Given the description of an element on the screen output the (x, y) to click on. 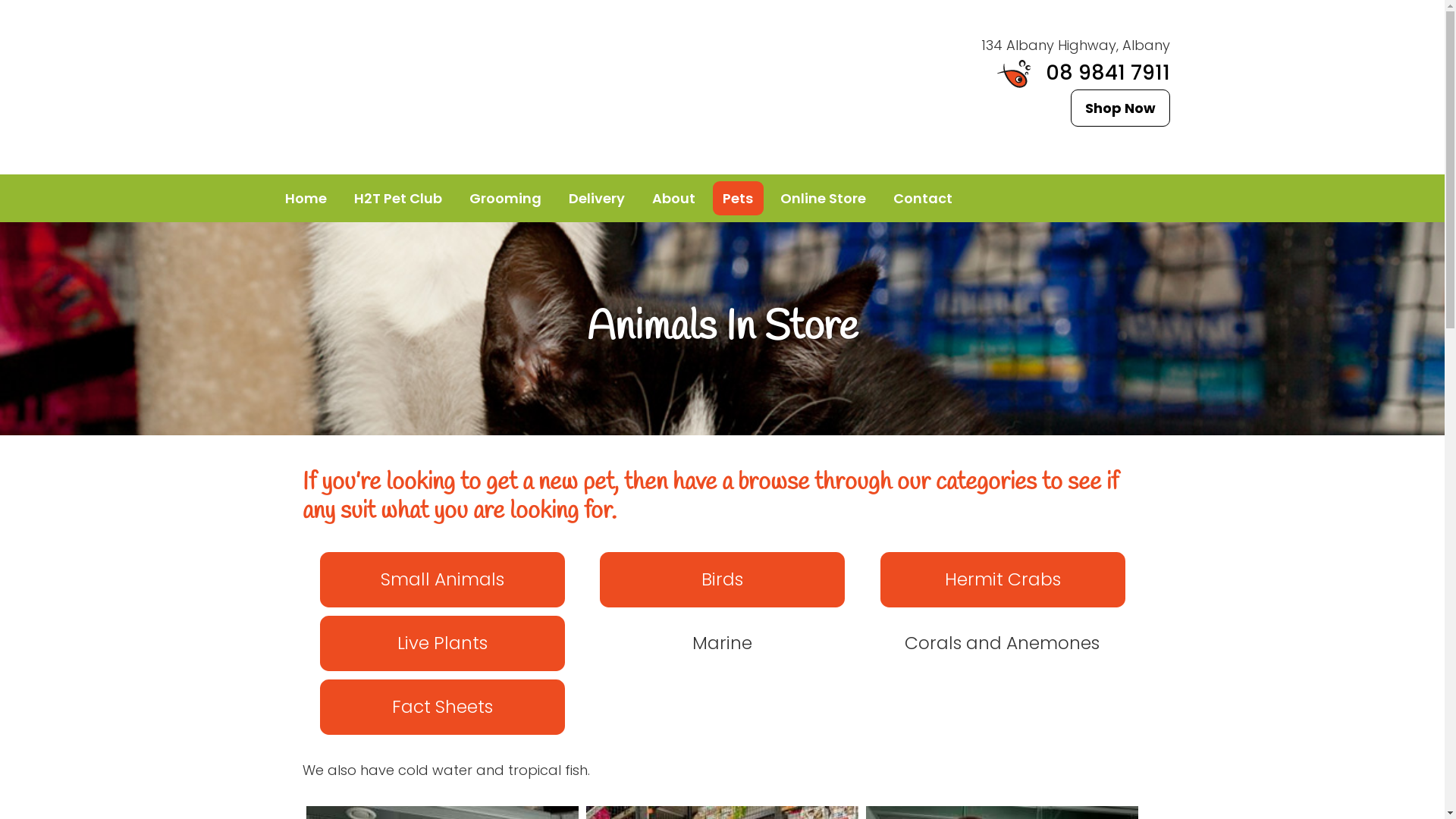
Birds Element type: text (721, 579)
Hermit Crabs Element type: text (1002, 579)
Grooming Element type: text (505, 198)
Online Store Element type: text (823, 198)
Live Plants Element type: text (442, 643)
Shop Now Element type: text (1120, 107)
Home Element type: text (305, 198)
Pets Element type: text (737, 198)
Delivery Element type: text (596, 198)
Contact Element type: text (922, 198)
Fact Sheets Element type: text (442, 706)
H2T Pet Club Element type: text (398, 198)
Small Animals Element type: text (442, 579)
08 9841 7911 Element type: text (1083, 72)
About Element type: text (673, 198)
